Given the description of an element on the screen output the (x, y) to click on. 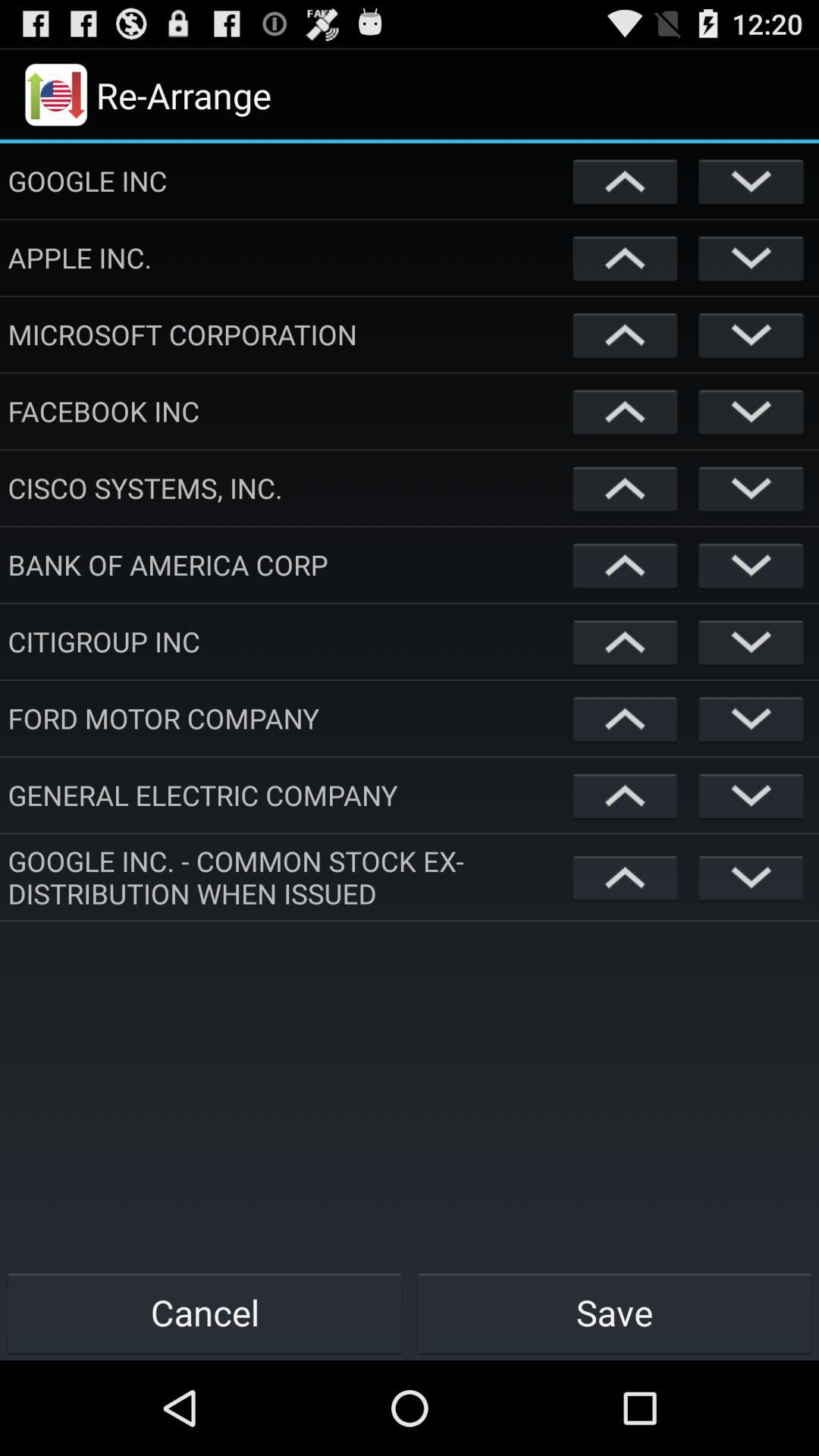
lower item order (751, 877)
